Given the description of an element on the screen output the (x, y) to click on. 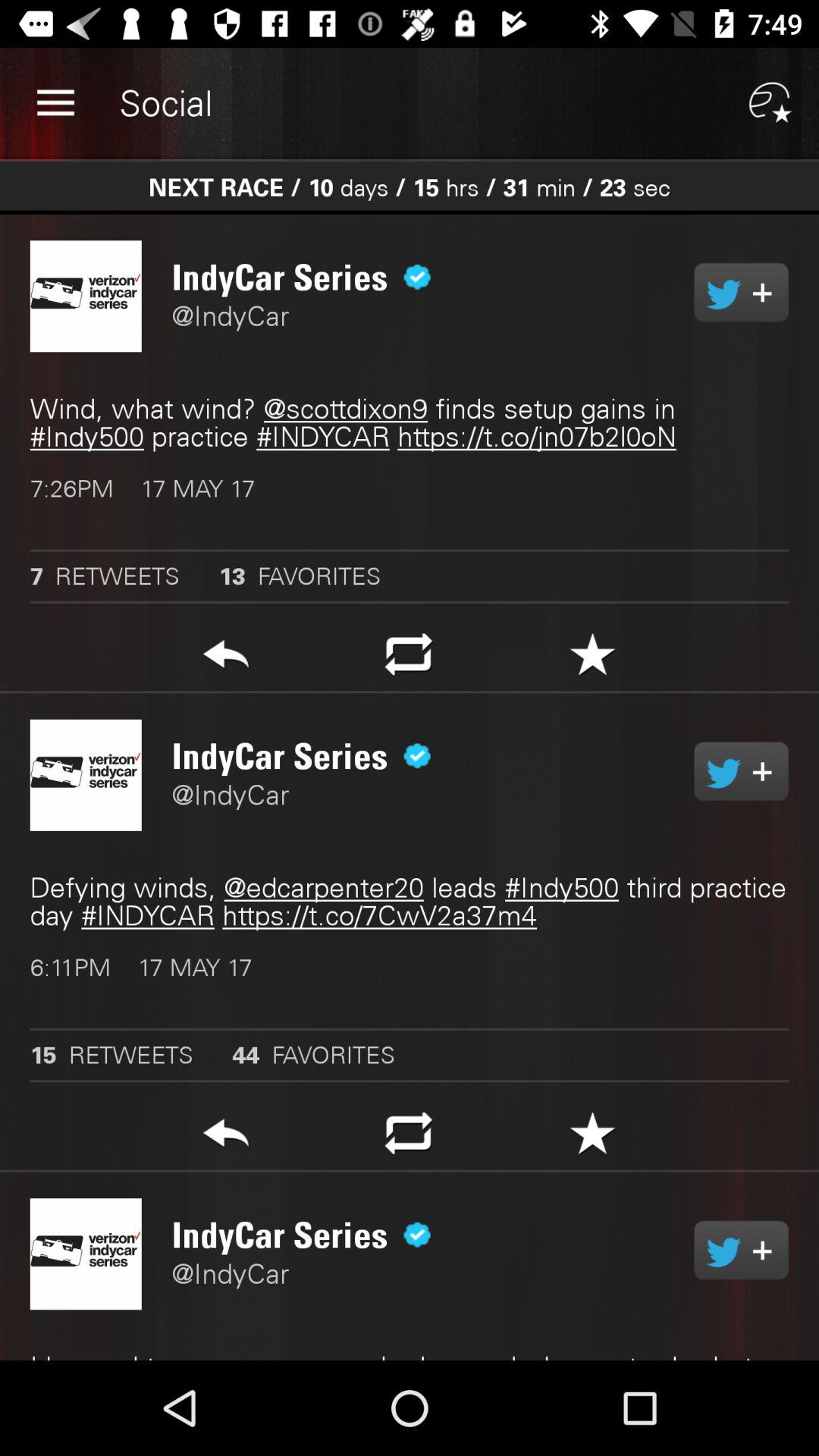
rate image (592, 658)
